Given the description of an element on the screen output the (x, y) to click on. 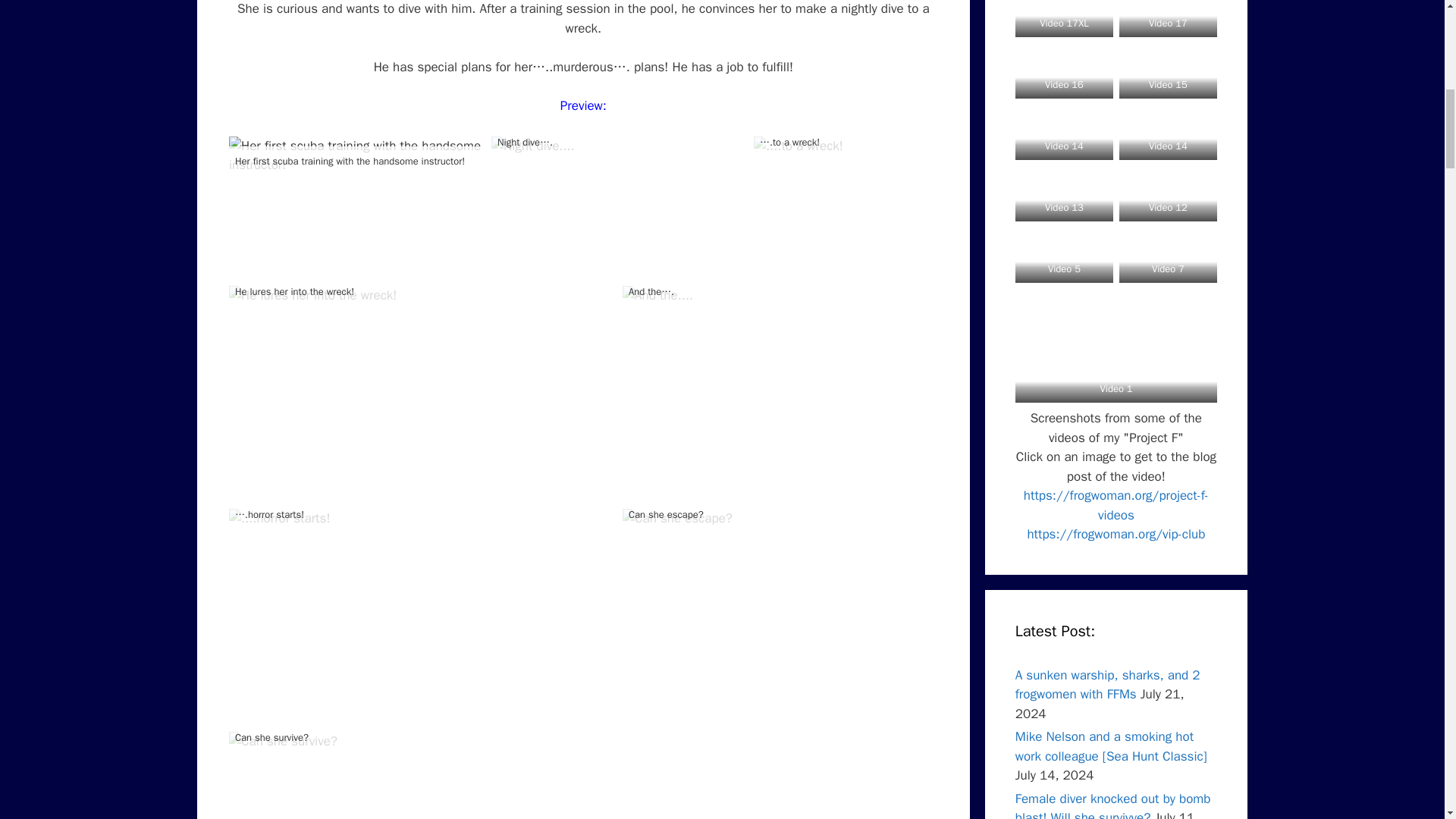
vlcsnap-2020-05-10-13h52m53s734 (798, 146)
Scroll back to top (1406, 720)
vlcsnap-2020-05-10-13h58m31s300 (282, 741)
vlcsnap-2020-05-10-13h54m22s104 (312, 295)
vlcsnap-2020-05-10-13h52m47s268 (533, 146)
vlcsnap-2020-05-10-13h55m53s626 (279, 518)
vlcsnap-2020-05-10-13h49m50s374 (357, 155)
vlcsnap-2020-05-10-13h55m14s674 (658, 295)
vlcsnap-2020-05-10-13h58m00s268 (677, 518)
